Given the description of an element on the screen output the (x, y) to click on. 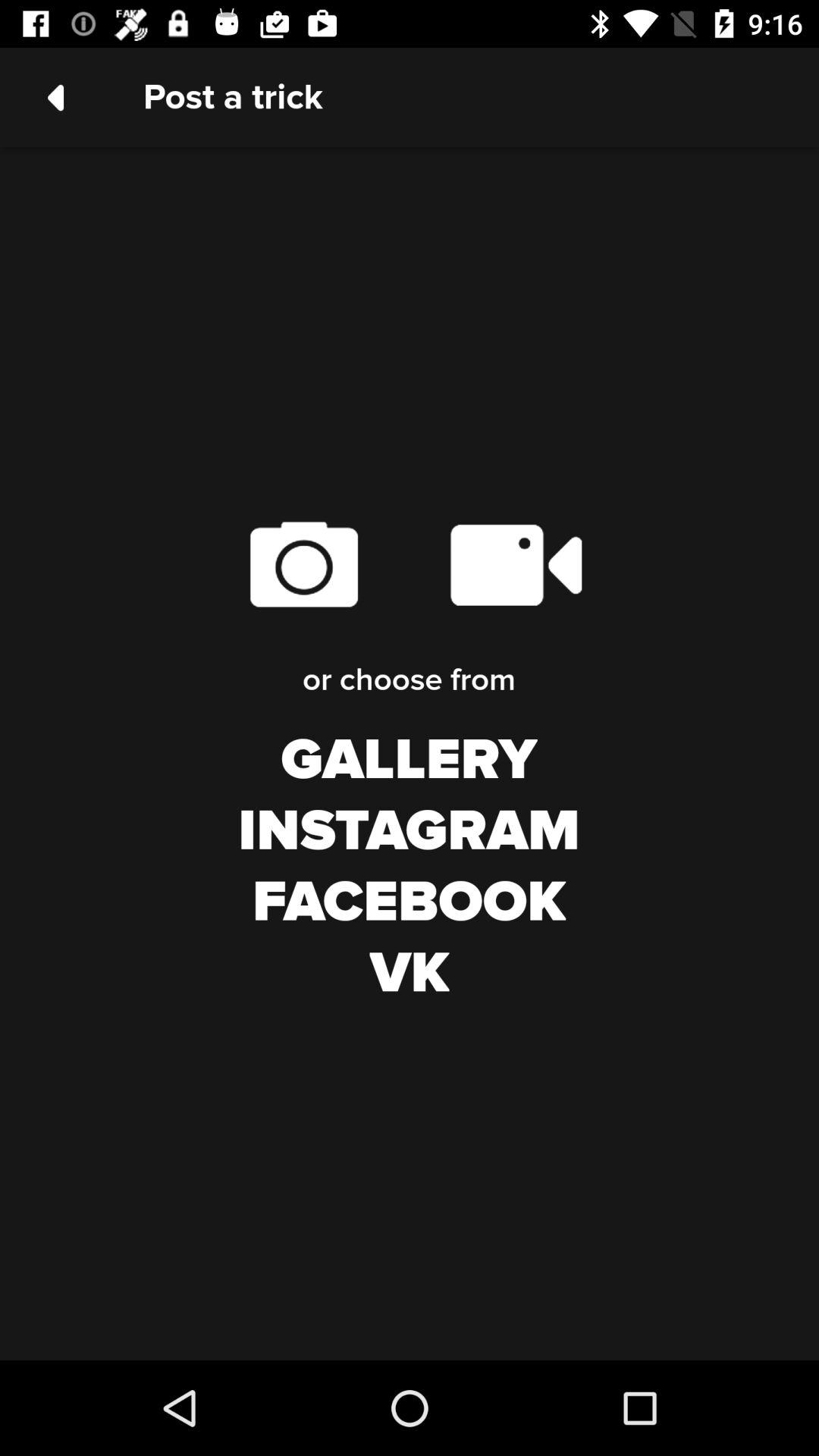
click item above the instagram item (408, 760)
